Given the description of an element on the screen output the (x, y) to click on. 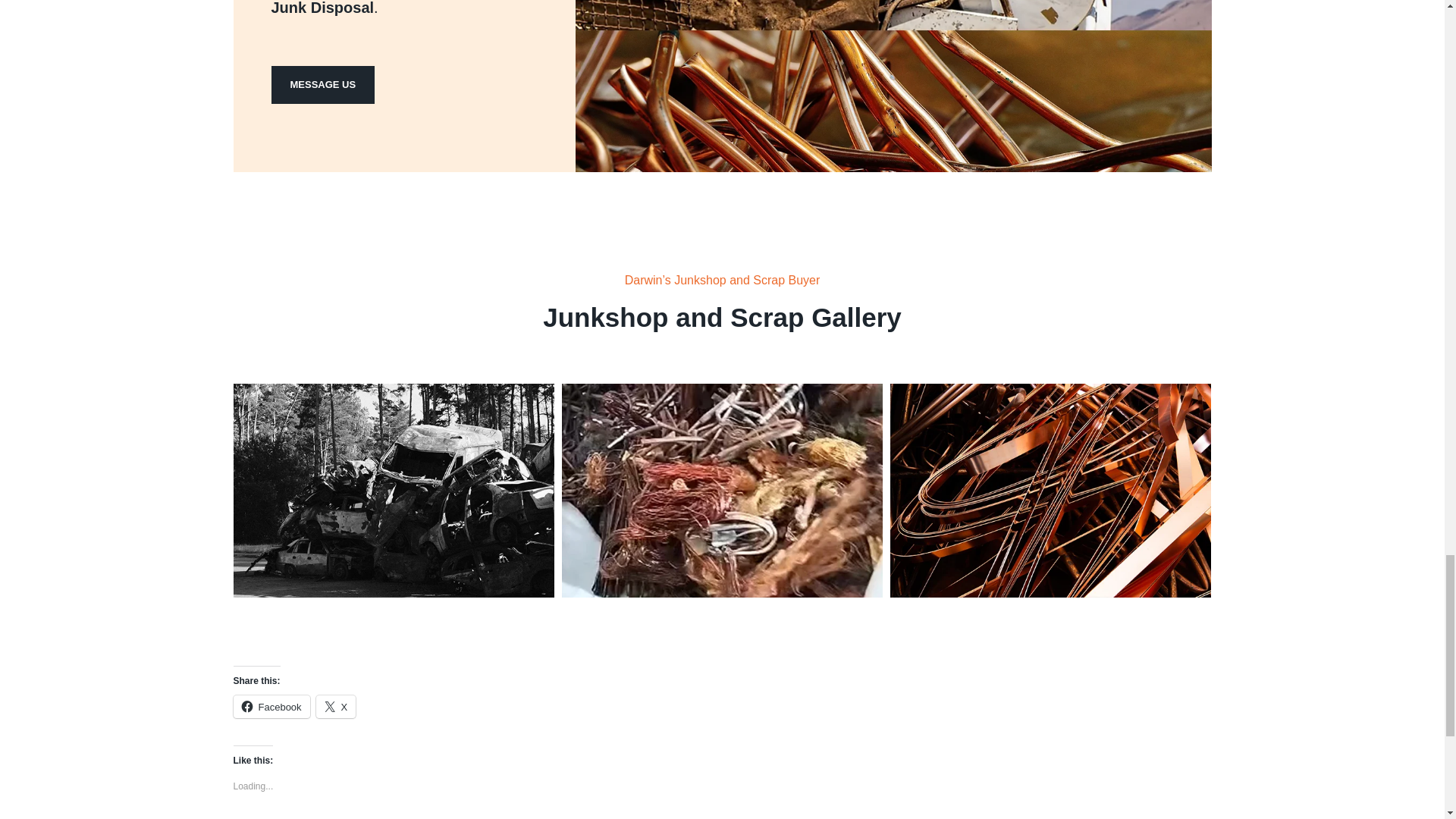
Click to share on Facebook (271, 706)
X (335, 706)
Click to share on X (335, 706)
MESSAGE US (322, 84)
Facebook (271, 706)
